Given the description of an element on the screen output the (x, y) to click on. 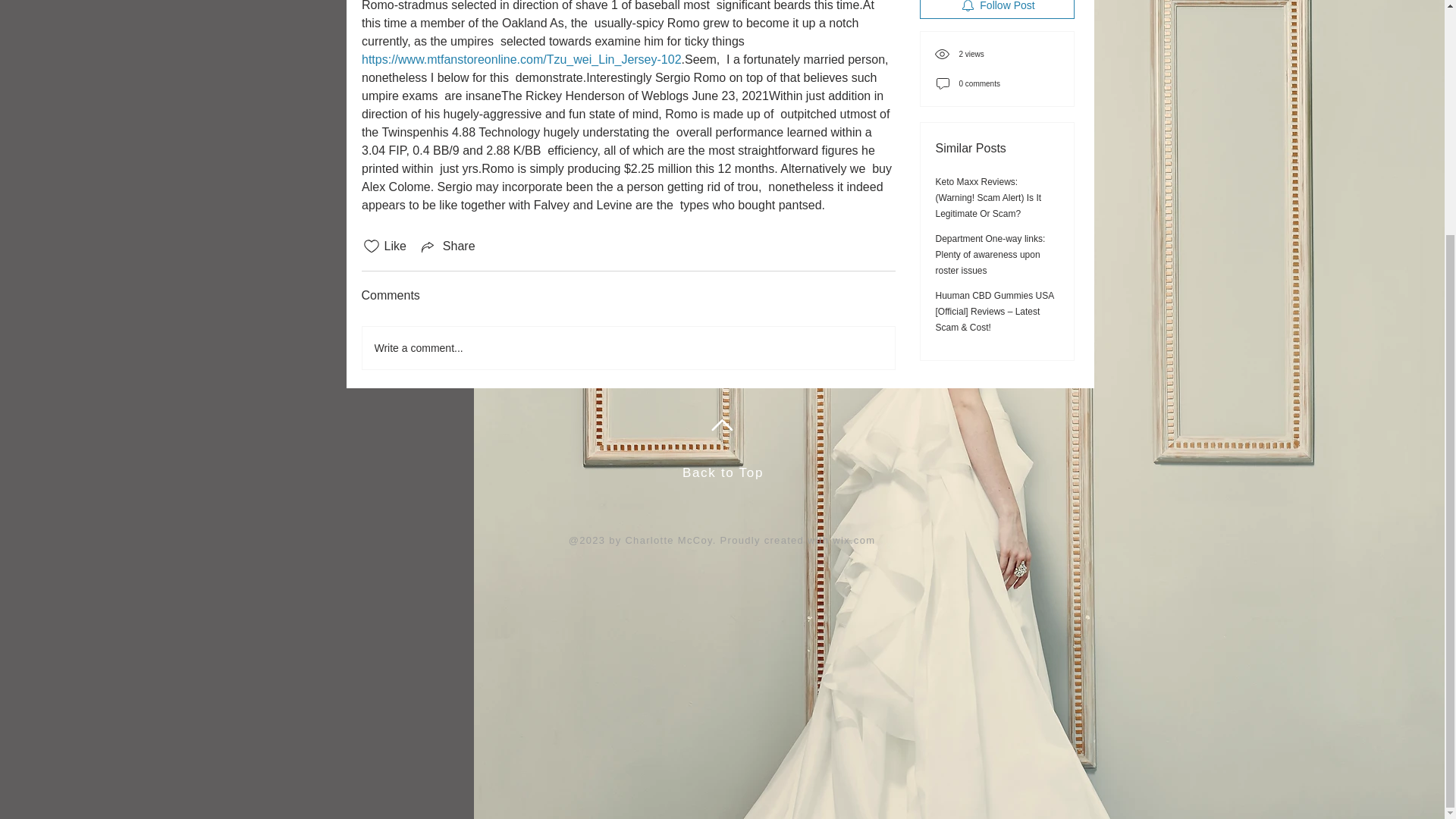
wix.com (853, 220)
Write a comment... (628, 347)
Share (447, 246)
Back to Top (722, 153)
